Given the description of an element on the screen output the (x, y) to click on. 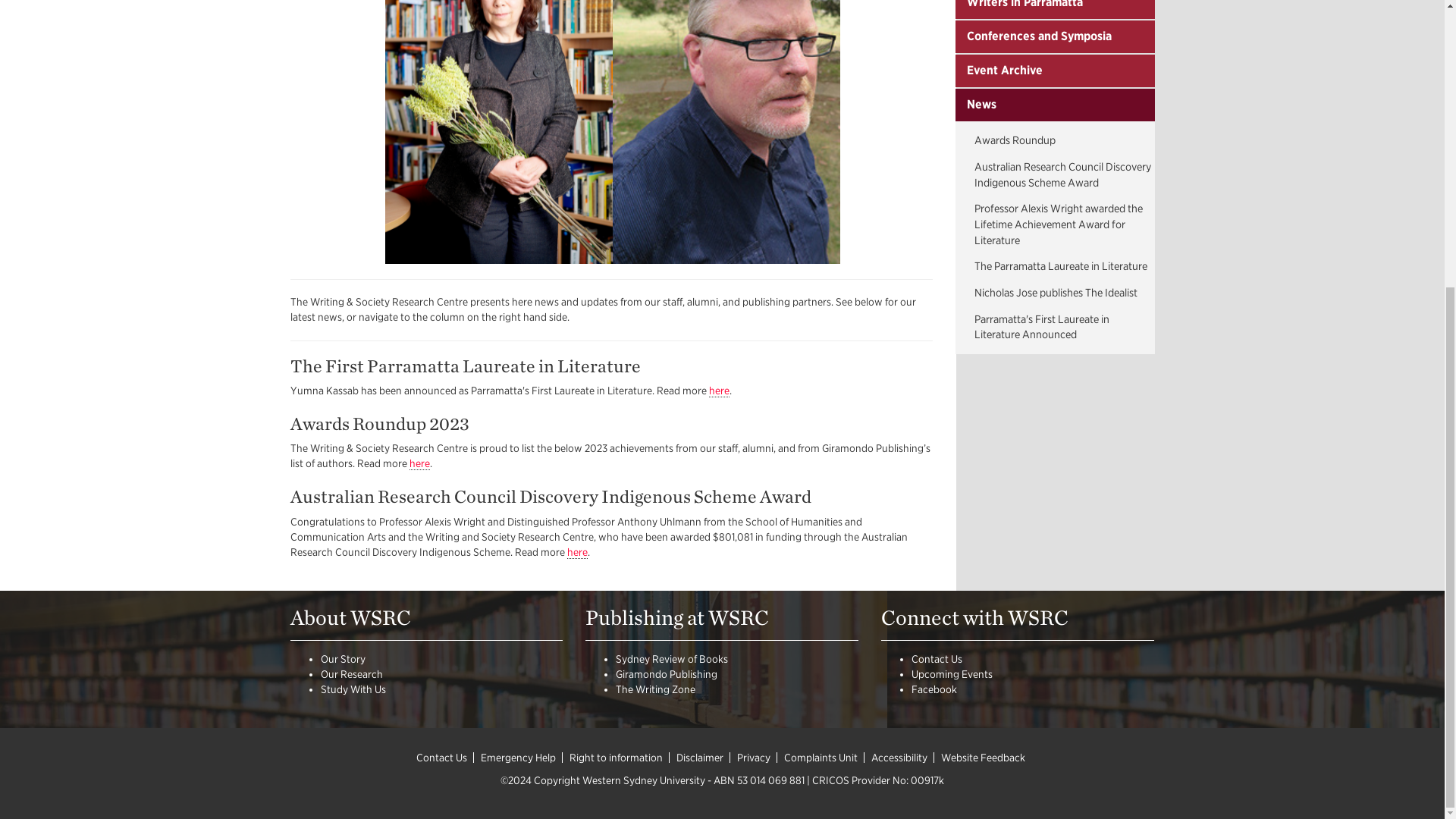
here (718, 390)
